Given the description of an element on the screen output the (x, y) to click on. 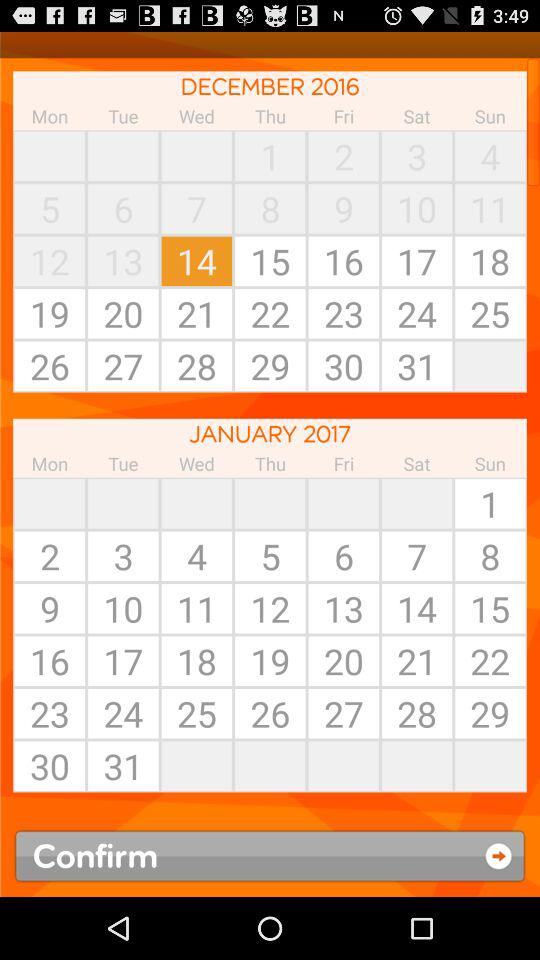
choose app to the left of the tue icon (49, 503)
